Given the description of an element on the screen output the (x, y) to click on. 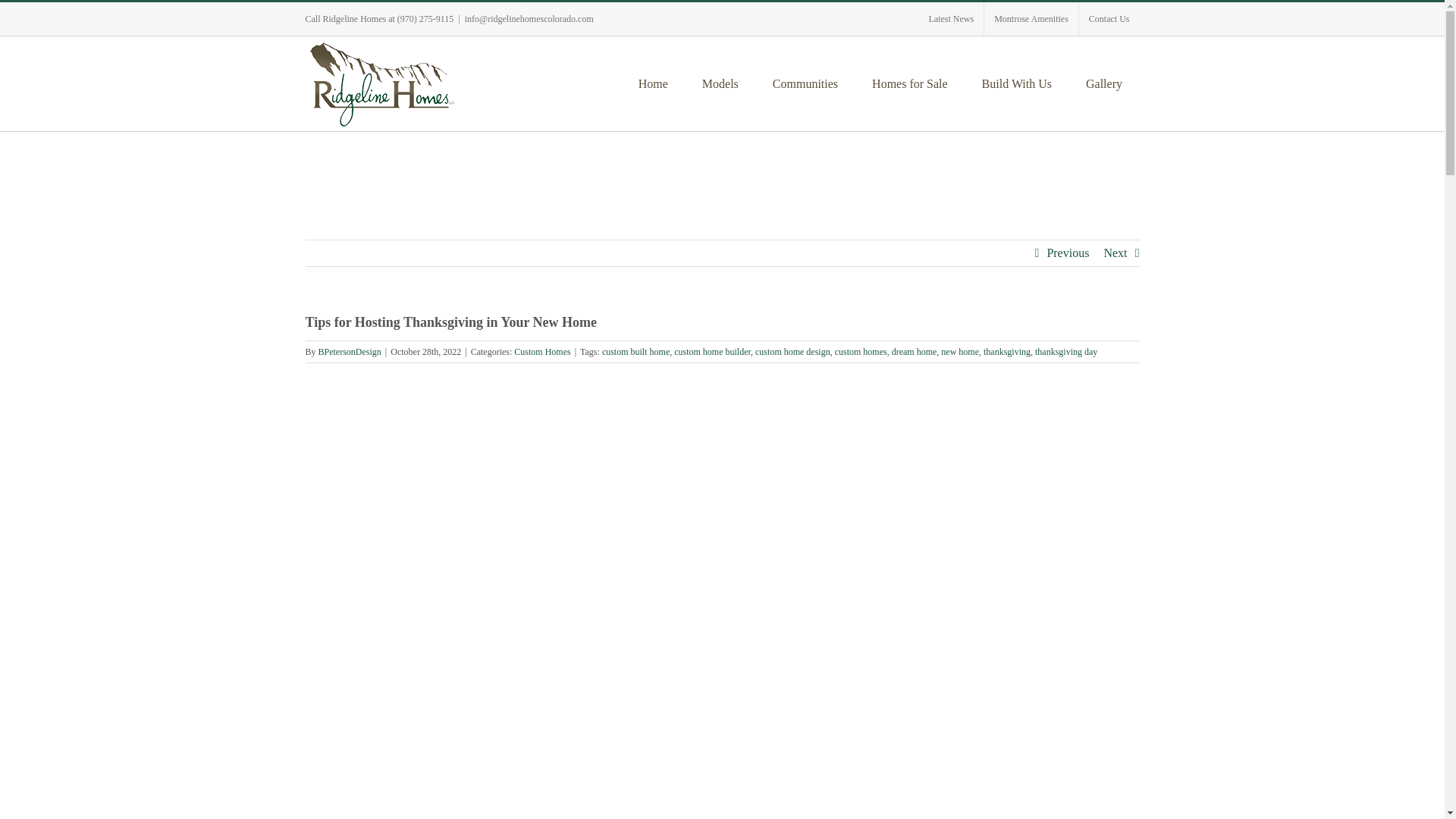
Homes for Sale (910, 83)
custom home design (792, 351)
BPetersonDesign (349, 351)
Custom Homes (541, 351)
Contact Us (1109, 19)
thanksgiving day (1066, 351)
Montrose Amenities (1031, 19)
new home (959, 351)
dream home (914, 351)
Previous (1067, 253)
